Given the description of an element on the screen output the (x, y) to click on. 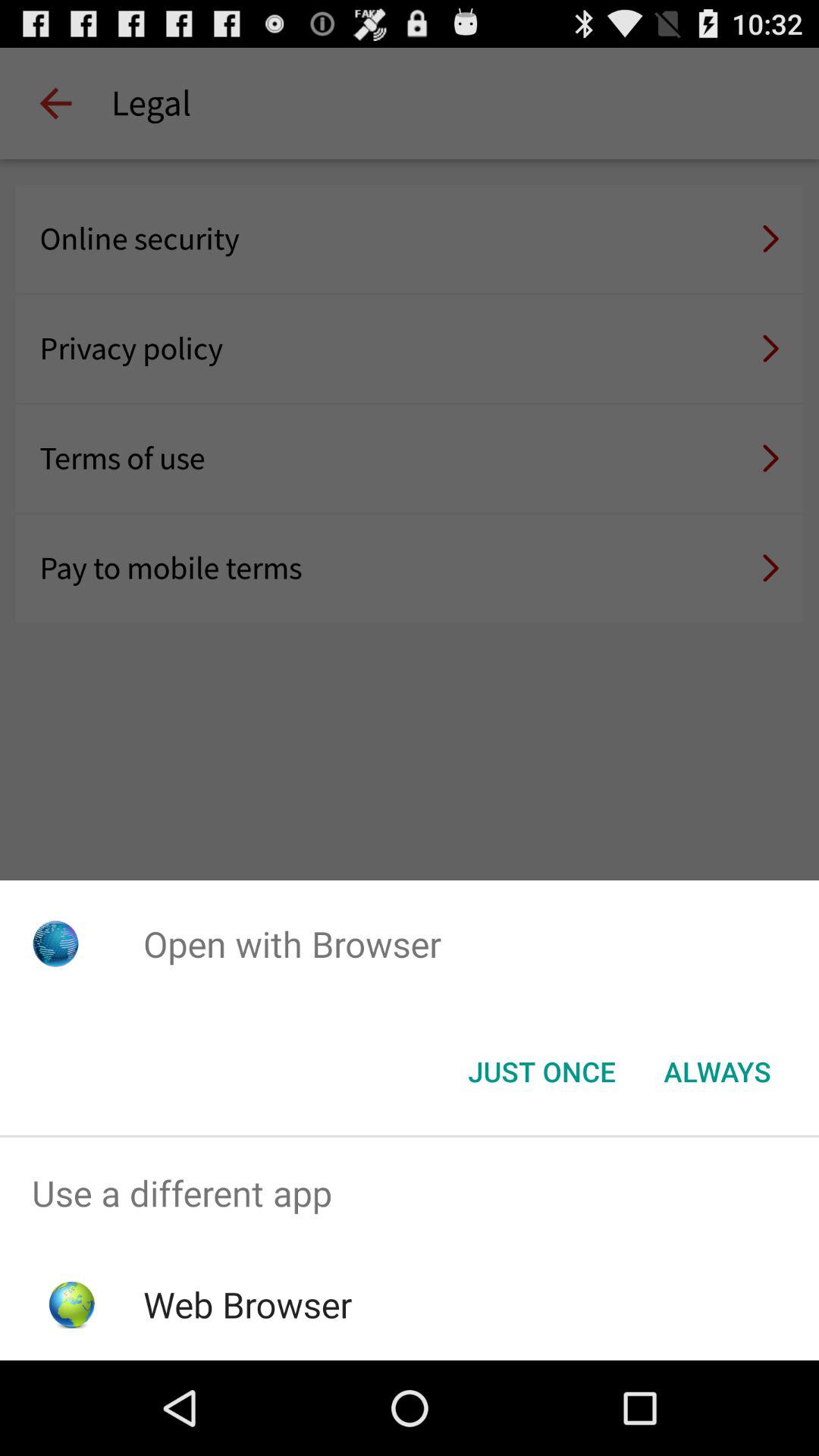
turn off button to the left of the always icon (541, 1071)
